Given the description of an element on the screen output the (x, y) to click on. 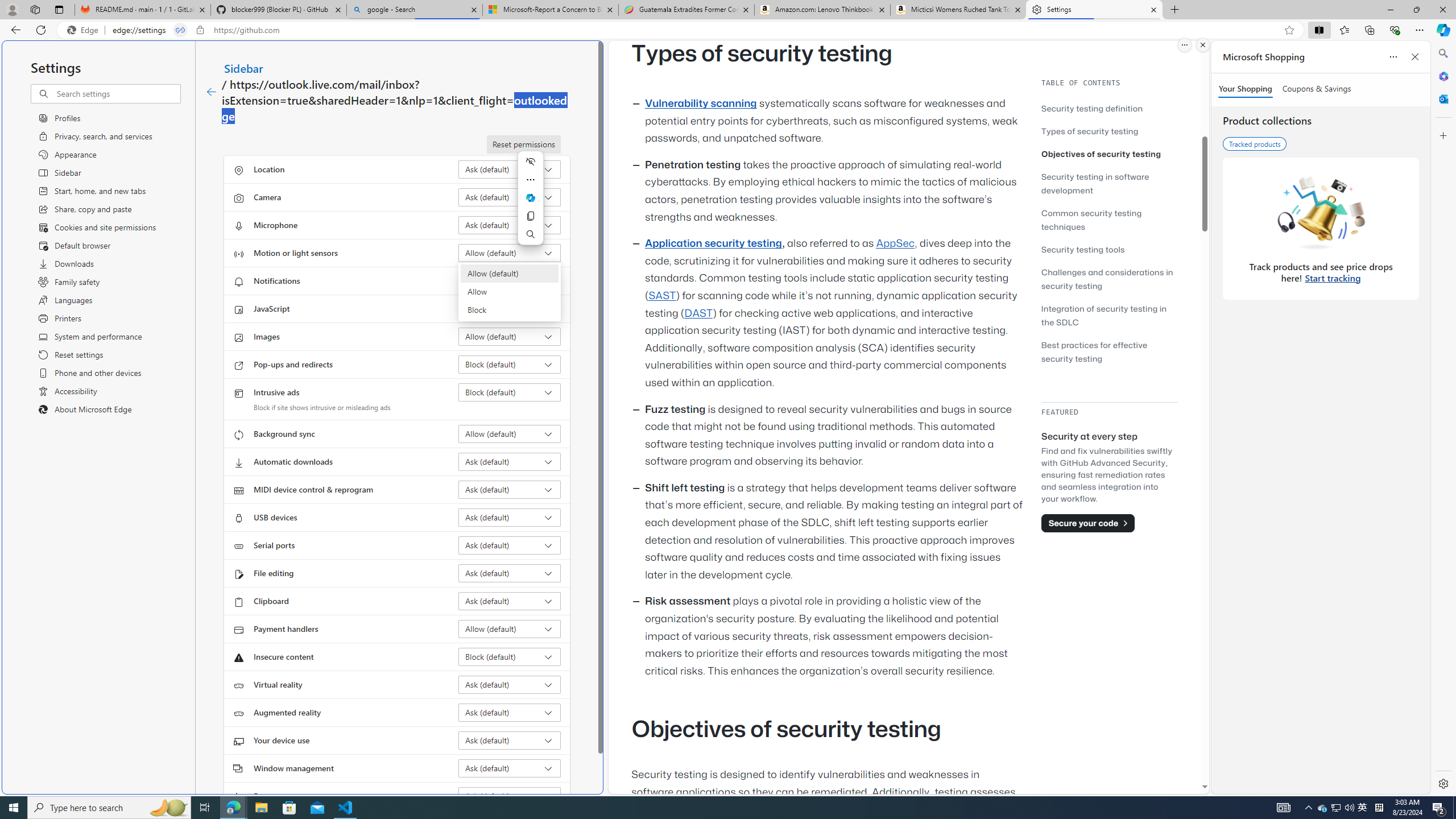
Personal Profile (12, 9)
Close tab (1153, 9)
Workspaces (34, 9)
Common security testing techniques (1109, 219)
Window management Ask (default) (509, 768)
Insecure content Block (default) (509, 656)
Security testing definition (1109, 108)
Microphone Ask (default) (509, 225)
Settings (1442, 783)
Go back to Sidebar page. (210, 91)
Types of security testing (1109, 130)
Secure your code (1088, 522)
More actions (530, 179)
New Tab (1174, 9)
